Given the description of an element on the screen output the (x, y) to click on. 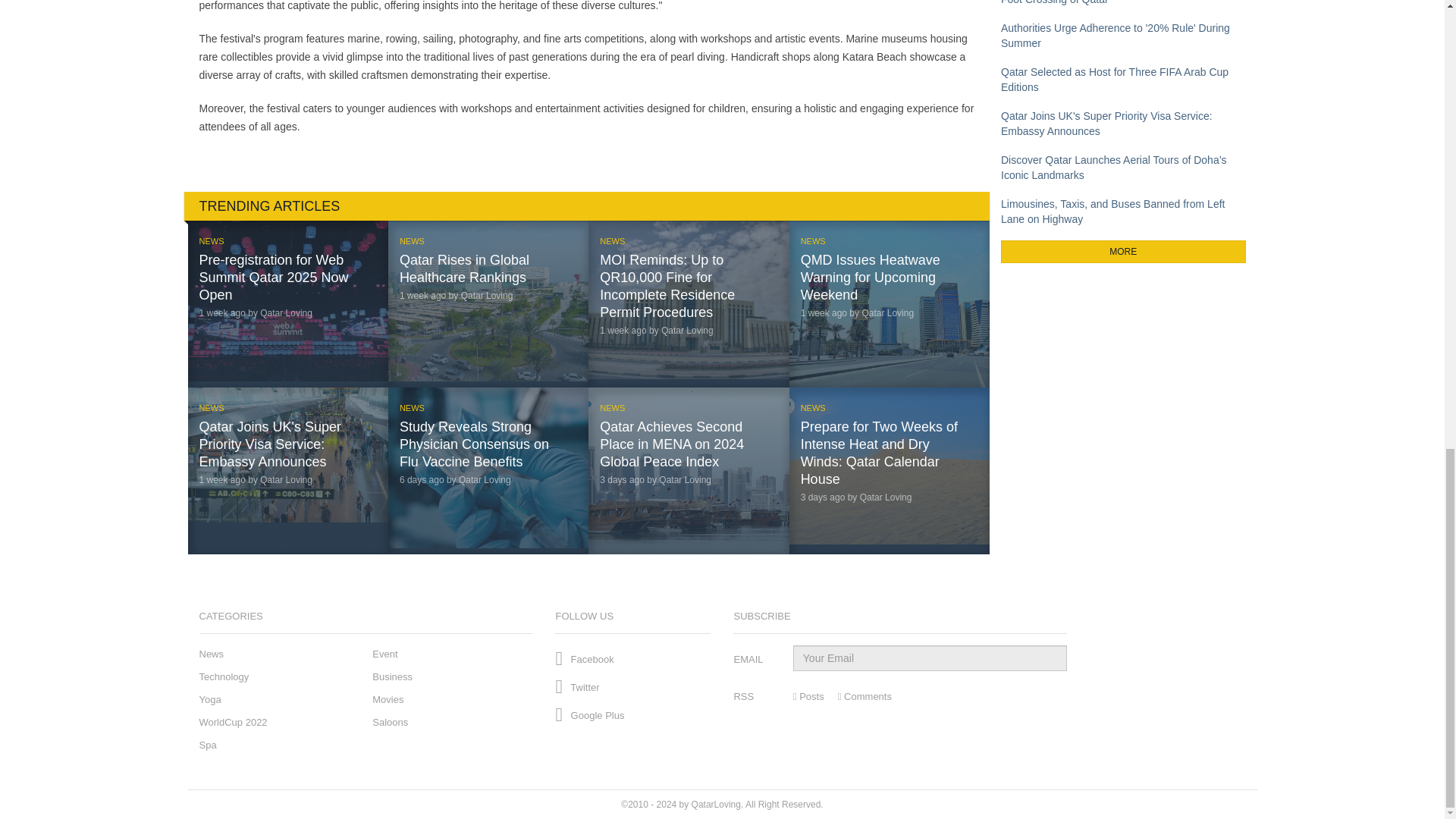
QMD Issues Heatwave Warning for Upcoming Weekend (870, 277)
Qatar Loving (687, 330)
TRENDING ARTICLES (586, 205)
Pre-registration for Web Summit Qatar 2025 Now Open (272, 277)
Qatar Loving (286, 312)
Qatar Rises in Global Healthcare Rankings (463, 268)
Qatar Loving (886, 497)
Qatar Loving (685, 480)
Qatar Loving (487, 295)
Qatar Loving (484, 480)
